Given the description of an element on the screen output the (x, y) to click on. 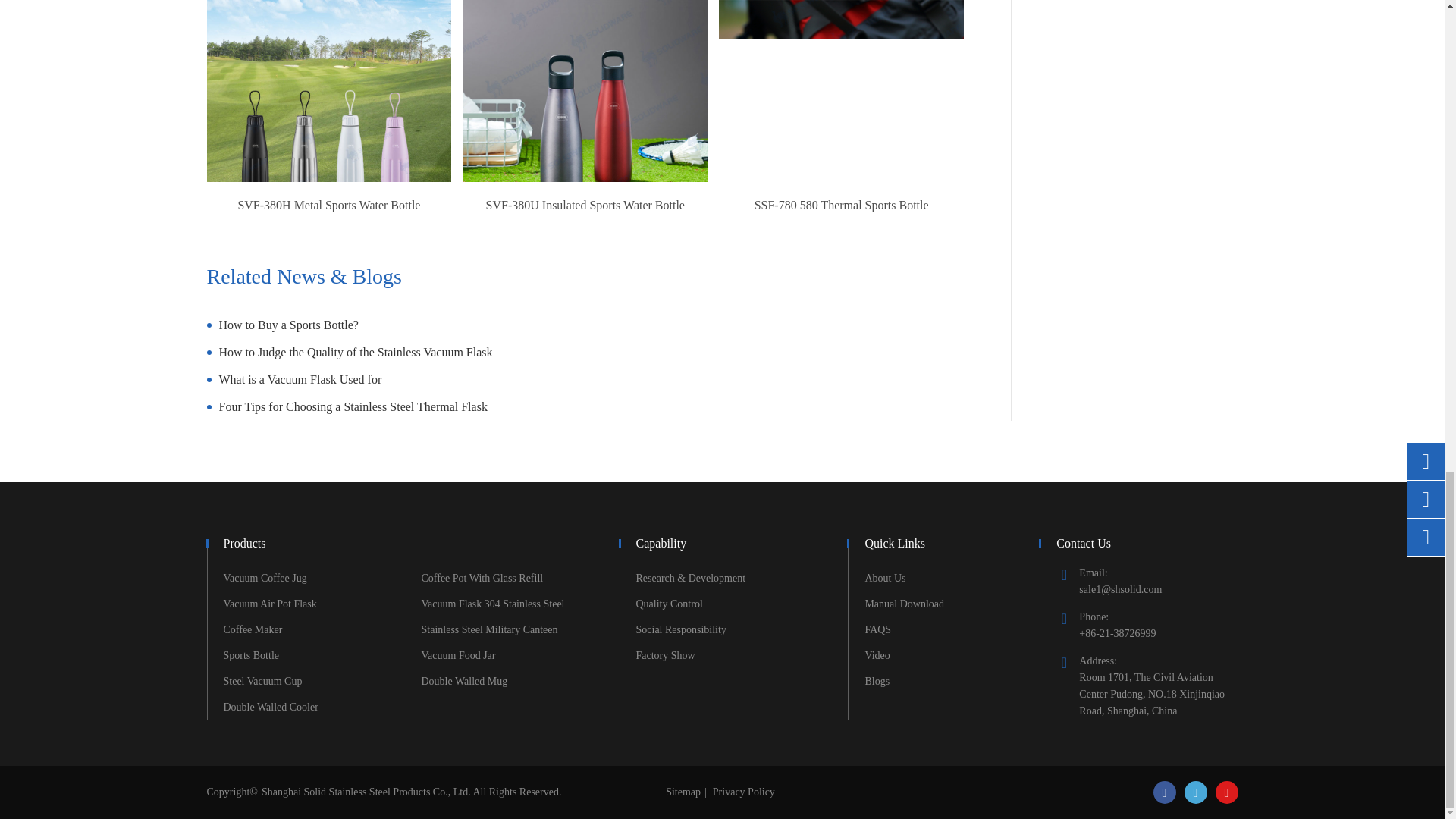
SSF-780 580 Thermal Sports Bottle (841, 122)
SVF-380H Metal Sports Water Bottle (328, 122)
SVF-380U Insulated Sports Water Bottle (585, 122)
